Given the description of an element on the screen output the (x, y) to click on. 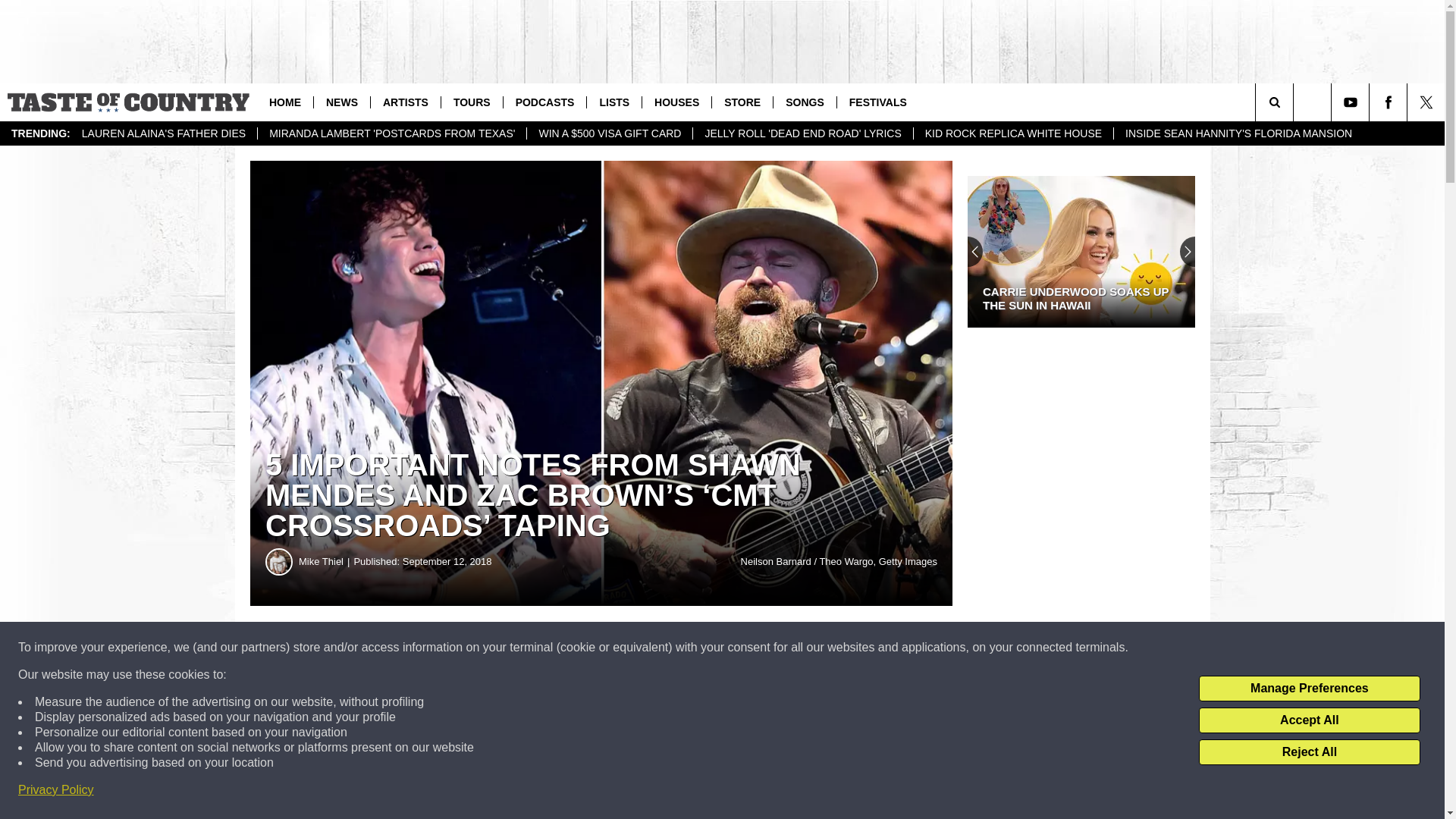
TOURS (471, 102)
HOME (285, 102)
Visit us on Instagram (1312, 102)
SEARCH (1295, 102)
Accept All (1309, 720)
ARTISTS (405, 102)
Mike Thiel (278, 561)
Privacy Policy (55, 789)
PODCASTS (544, 102)
INSIDE SEAN HANNITY'S FLORIDA MANSION (1237, 133)
Zac Brown Band (492, 700)
Visit us on Youtube (1350, 102)
KID ROCK REPLICA WHITE HOUSE (1012, 133)
JELLY ROLL 'DEAD END ROAD' LYRICS (802, 133)
NEWS (341, 102)
